Given the description of an element on the screen output the (x, y) to click on. 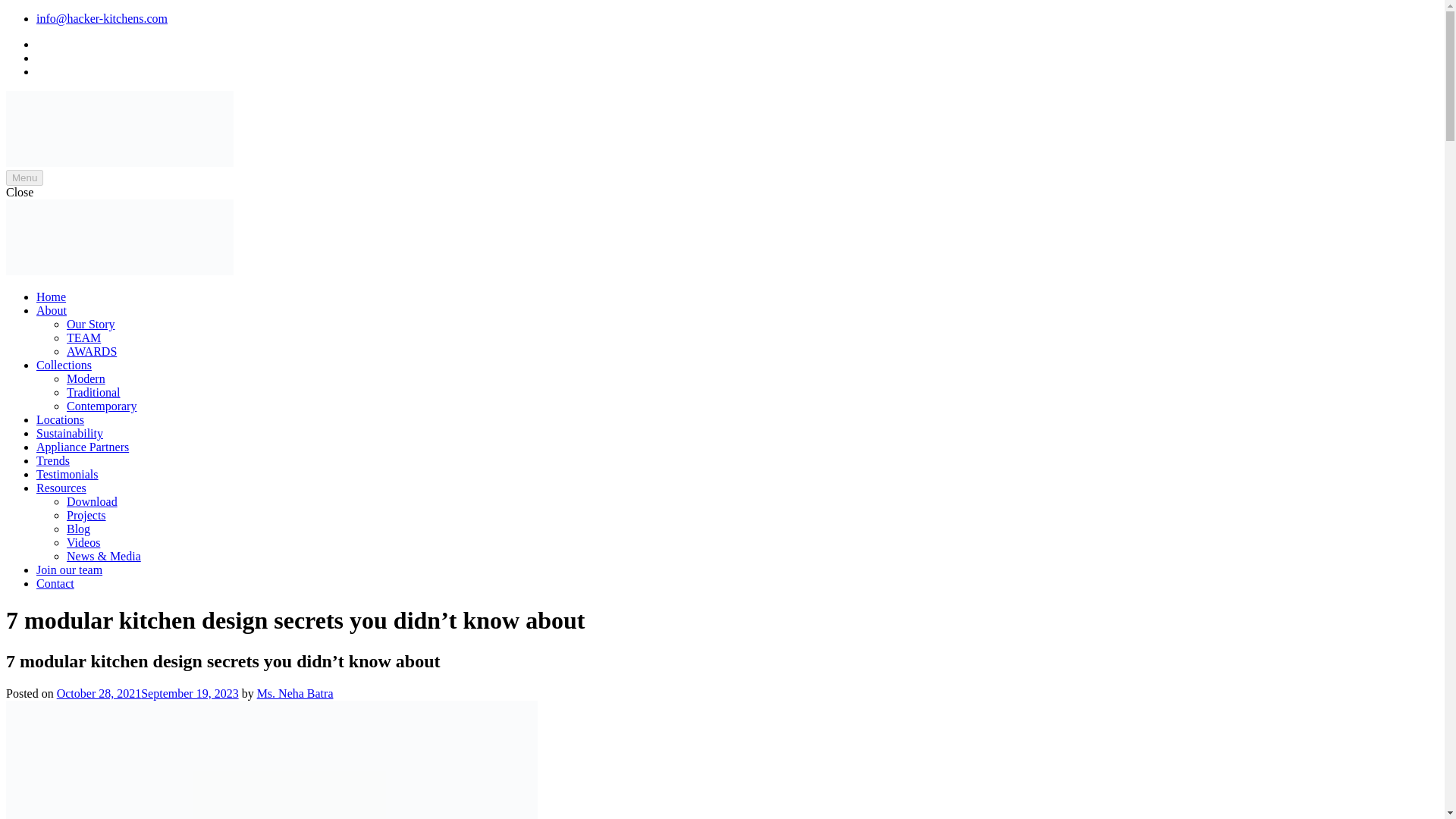
Resources (60, 487)
About (51, 309)
Ms. Neha Batra (295, 693)
Our Story (90, 323)
Haecker (25, 187)
TEAM (83, 337)
Contact (55, 583)
Trends (52, 460)
Appliance Partners (82, 446)
Blog (78, 528)
